Given the description of an element on the screen output the (x, y) to click on. 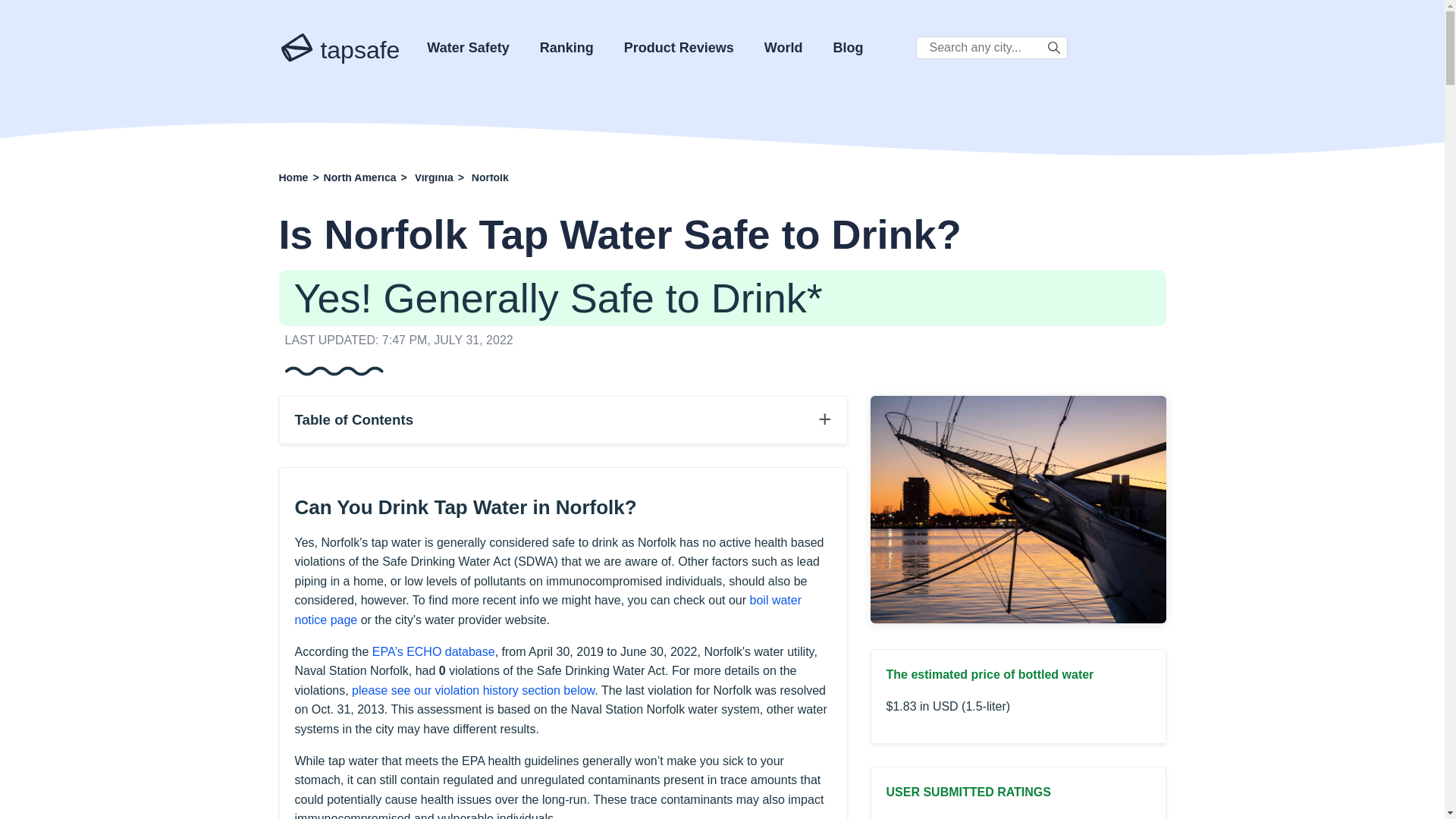
Home (293, 177)
Virginia (433, 177)
Product Reviews (678, 47)
North America (359, 177)
Water Safety (467, 47)
Ranking (567, 47)
tapsafe (339, 44)
Search City: (991, 47)
